Given the description of an element on the screen output the (x, y) to click on. 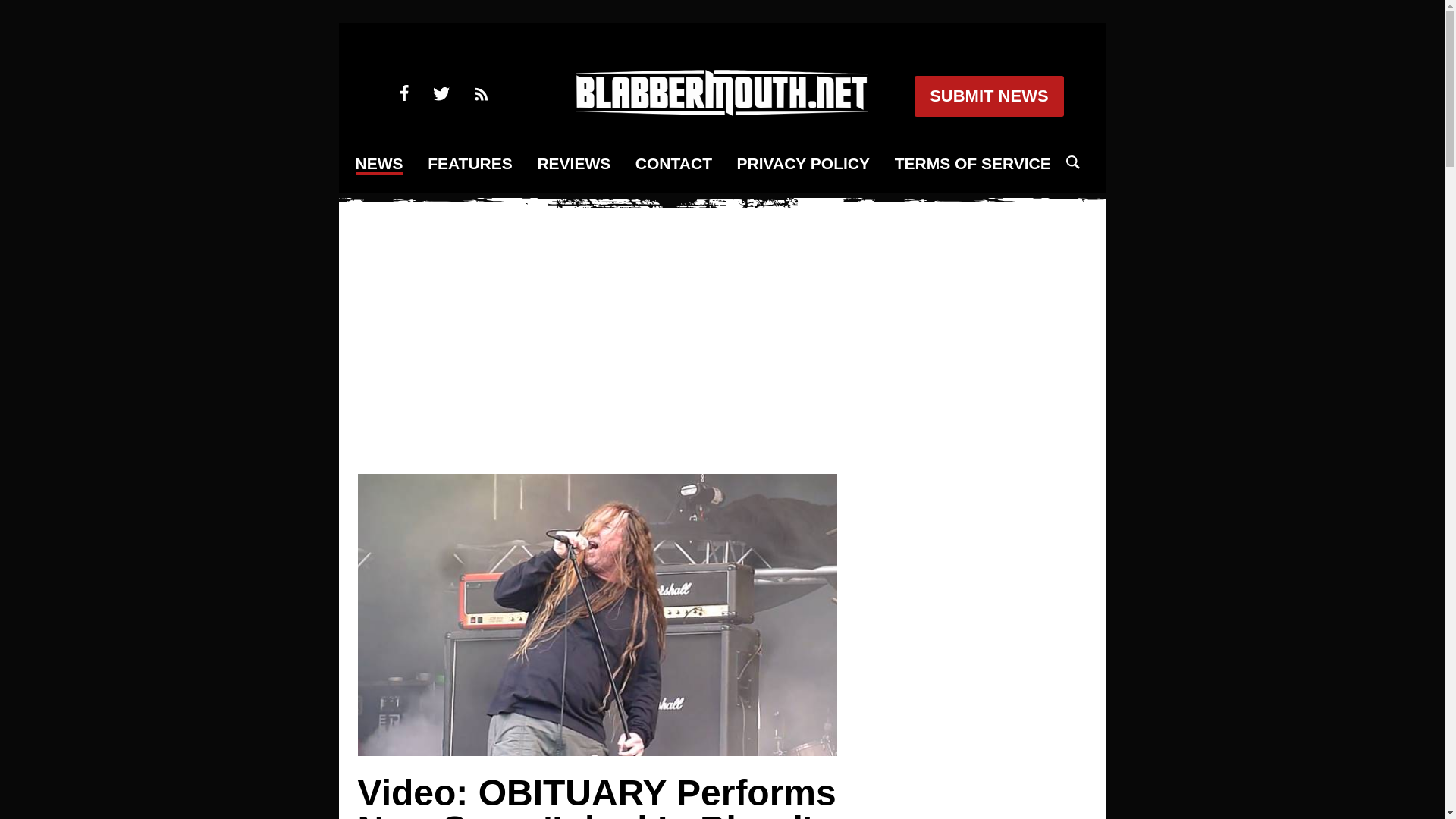
search icon (1072, 161)
FEATURES (470, 163)
TERMS OF SERVICE (973, 163)
PRIVACY POLICY (802, 163)
NEWS (379, 164)
CONTACT (672, 163)
REVIEWS (573, 163)
SUBMIT NEWS (988, 96)
blabbermouth (721, 110)
